Given the description of an element on the screen output the (x, y) to click on. 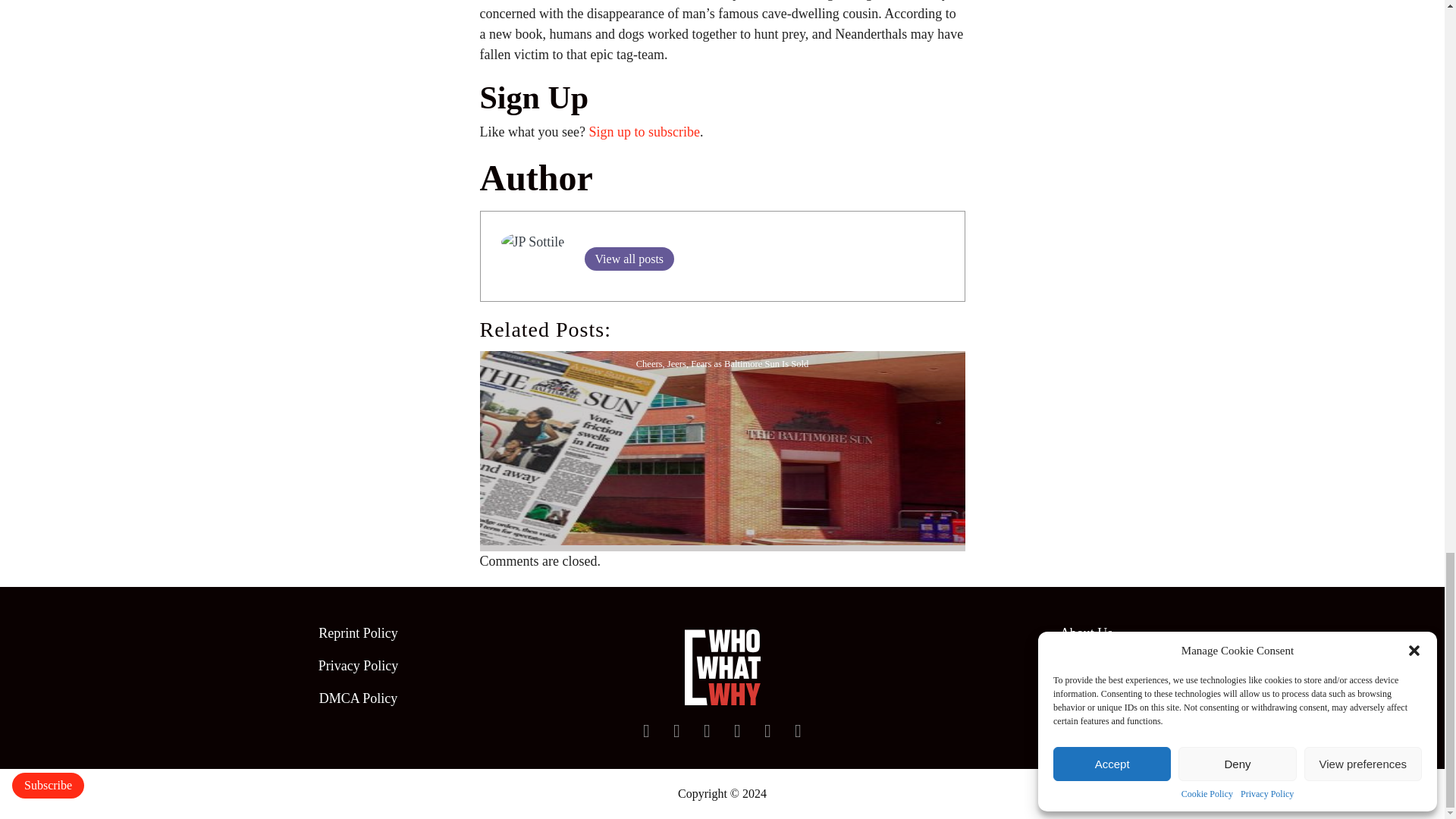
Cheers, Jeers, Fears as Baltimore Sun Is Sold (721, 447)
View all posts (628, 259)
